Given the description of an element on the screen output the (x, y) to click on. 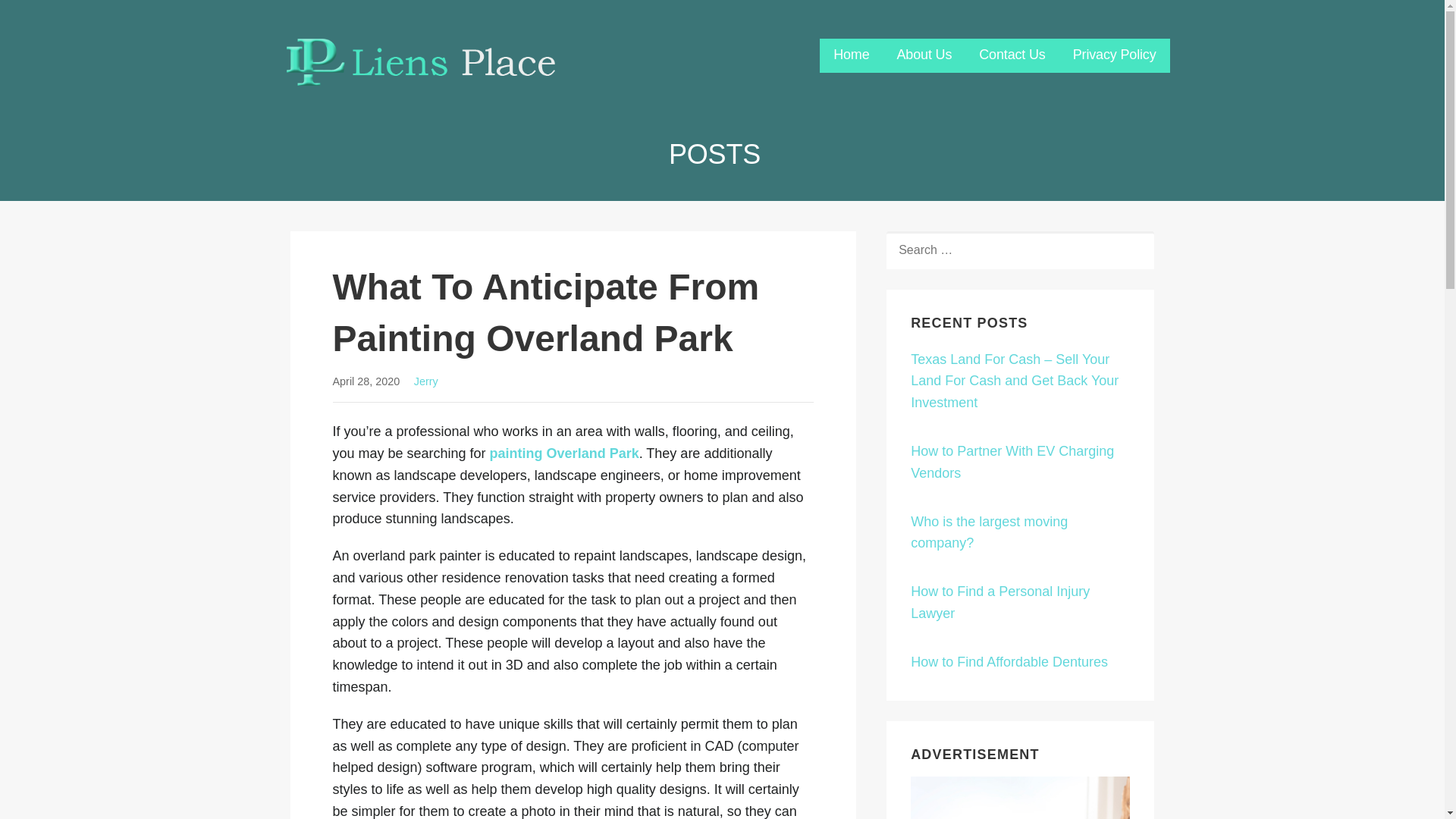
How to Find Affordable Dentures (1009, 661)
How to Find a Personal Injury Lawyer (1000, 601)
painting Overland Park (564, 453)
Contact Us (1011, 55)
Search (47, 17)
Liens Place (343, 95)
Posts by Jerry (425, 381)
About Us (924, 55)
Jerry (425, 381)
Who is the largest moving company? (989, 532)
